Given the description of an element on the screen output the (x, y) to click on. 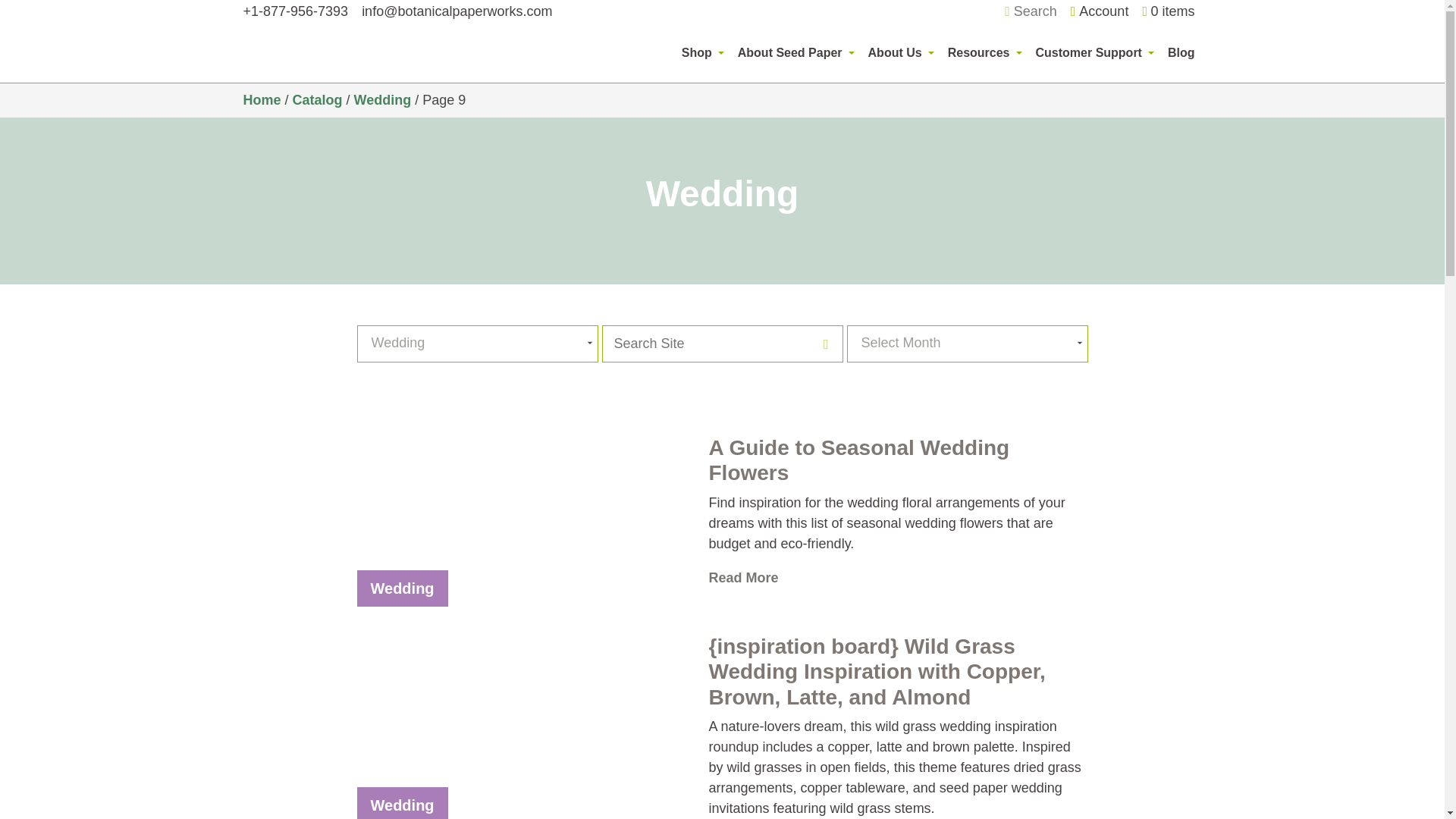
Account (1099, 10)
Start shopping (1167, 11)
Shop (702, 52)
Search (1030, 11)
0 items (1167, 11)
